Given the description of an element on the screen output the (x, y) to click on. 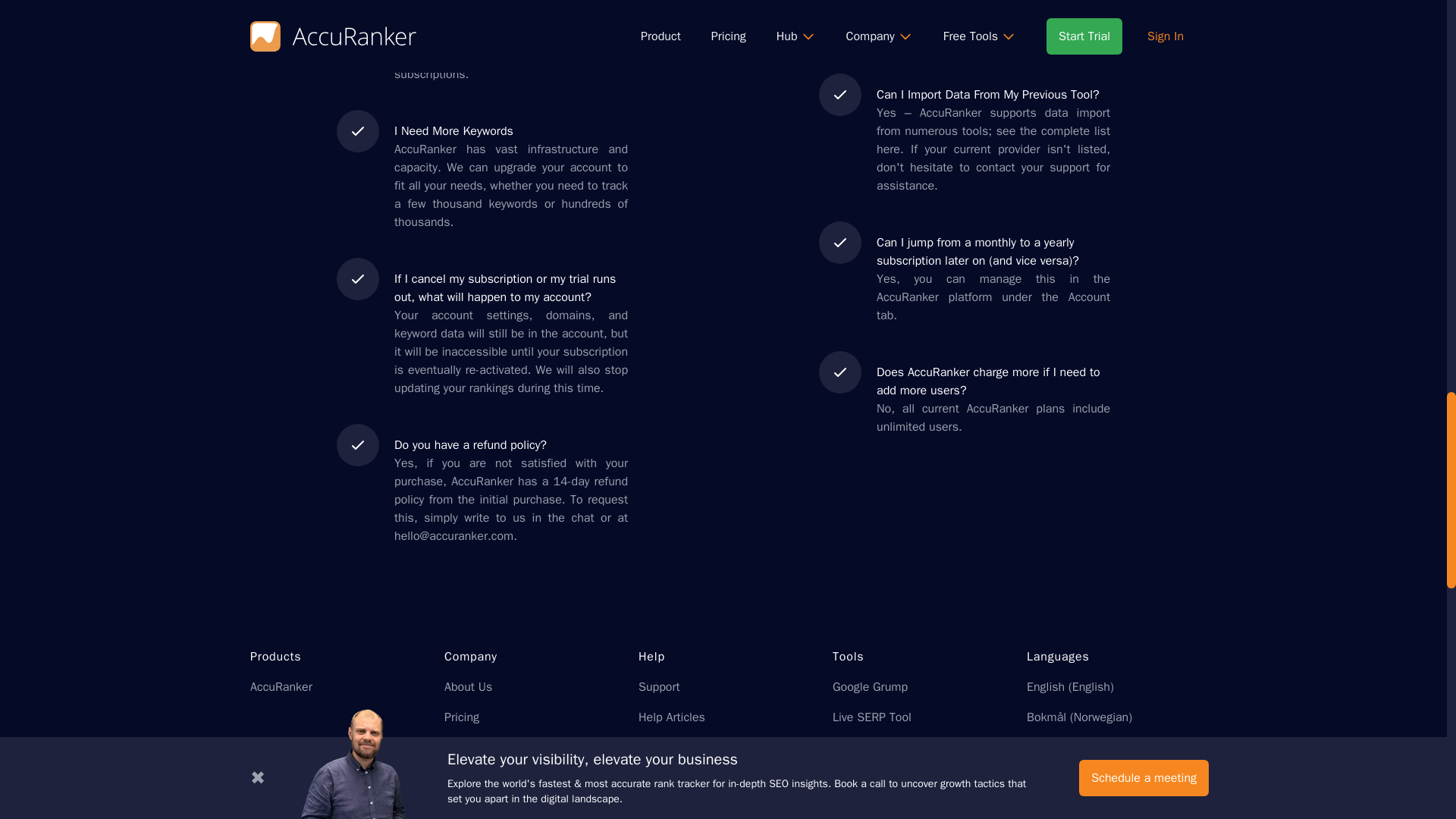
Blog (455, 747)
Live SERP Tool (871, 717)
Integrations (670, 747)
Cases (655, 807)
Support (659, 686)
About Us (468, 686)
AccuRanker (281, 686)
Google Grump (869, 686)
Help Articles (671, 717)
Release Log (671, 777)
